Given the description of an element on the screen output the (x, y) to click on. 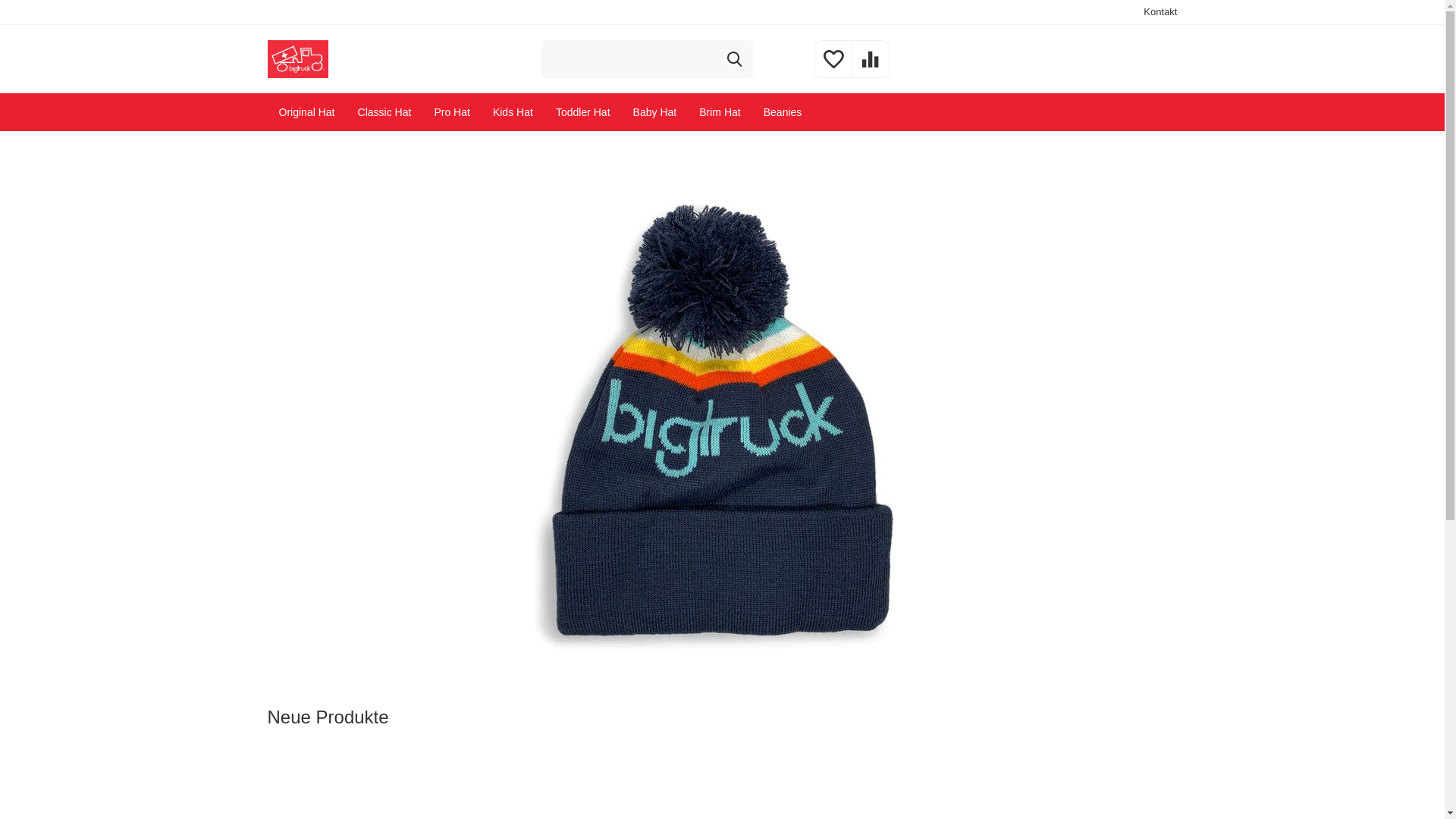
Kids Hat Element type: text (512, 112)
Vergleichsliste anzeigen Element type: hover (870, 67)
Produkte suchen Element type: hover (646, 59)
Toddler Hat Element type: text (582, 112)
Classic Hat Element type: text (384, 112)
Suche Element type: hover (734, 58)
Original Hat Element type: text (305, 112)
Wunschliste anzeigen Element type: hover (833, 67)
Baby Hat Element type: text (654, 112)
Kontakt Element type: text (1159, 11)
Pom Beanie Retro Stripes Element type: hover (721, 420)
Brim Hat Element type: text (719, 112)
Beanies Element type: text (782, 112)
Pro Hat Element type: text (451, 112)
